Given the description of an element on the screen output the (x, y) to click on. 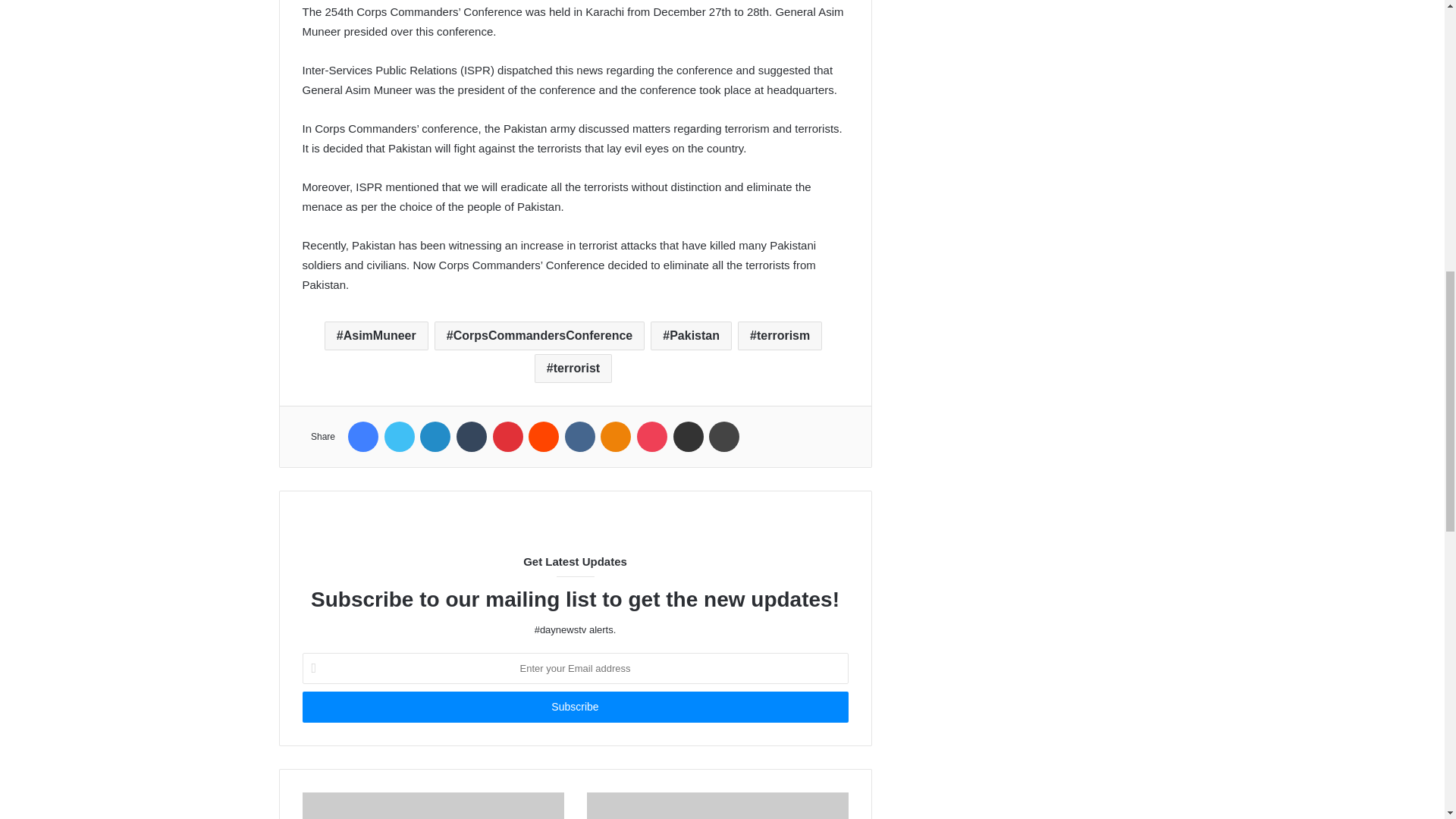
Pakistan (691, 335)
CorpsCommandersConference (539, 335)
AsimMuneer (376, 335)
terrorist (572, 368)
Subscribe (574, 706)
terrorism (780, 335)
